Given the description of an element on the screen output the (x, y) to click on. 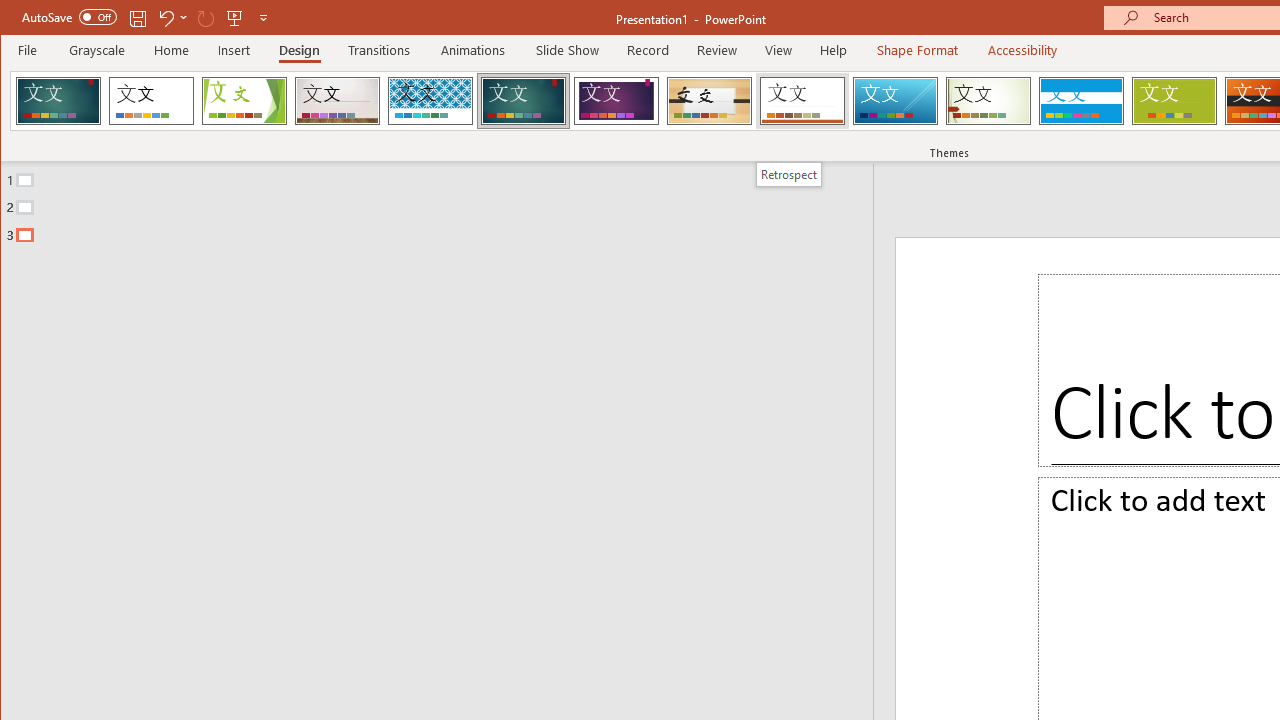
Wisp (988, 100)
Basis (1174, 100)
Outline (445, 203)
Organic (709, 100)
